Given the description of an element on the screen output the (x, y) to click on. 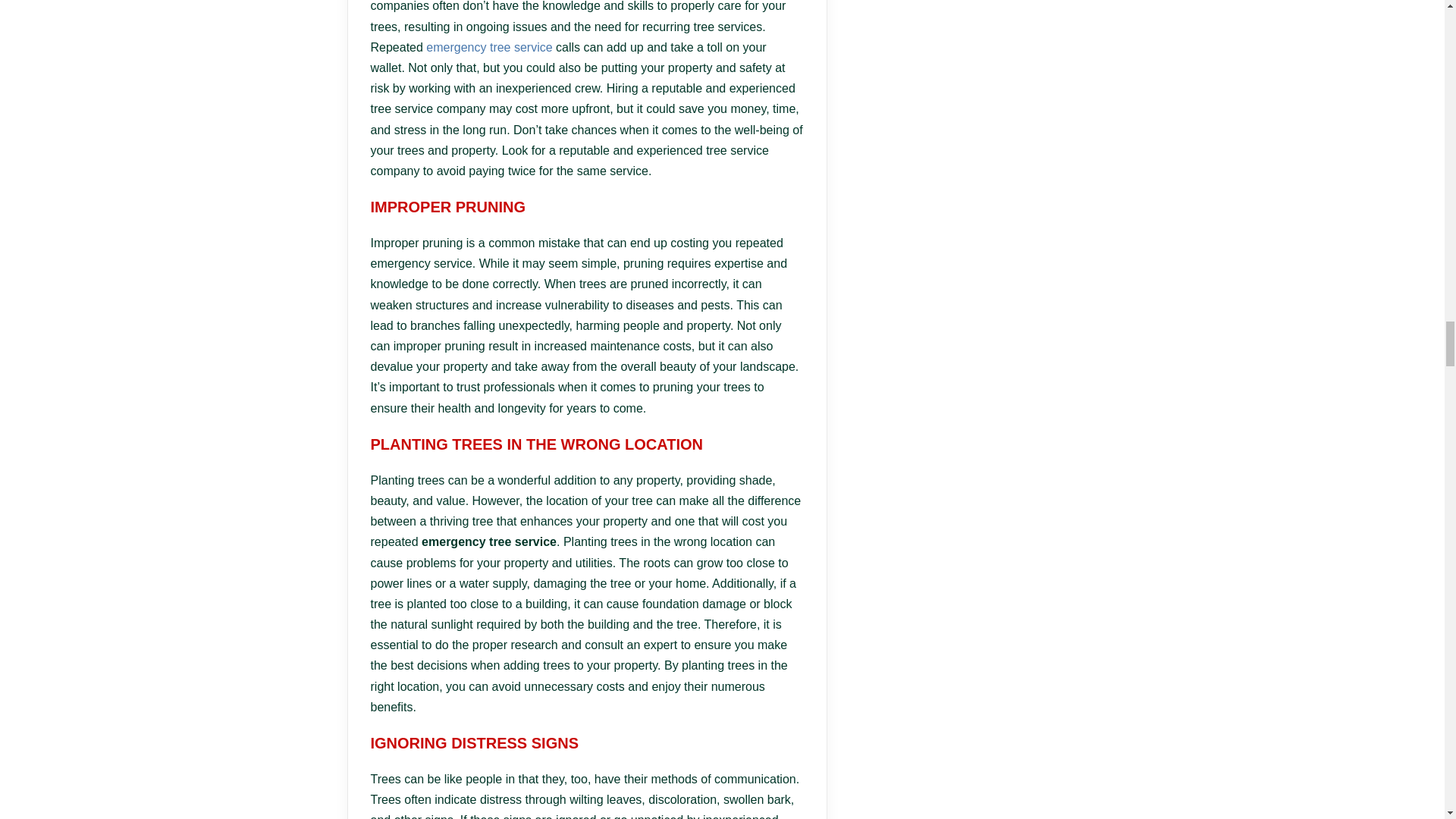
emergency tree service (488, 47)
